Given the description of an element on the screen output the (x, y) to click on. 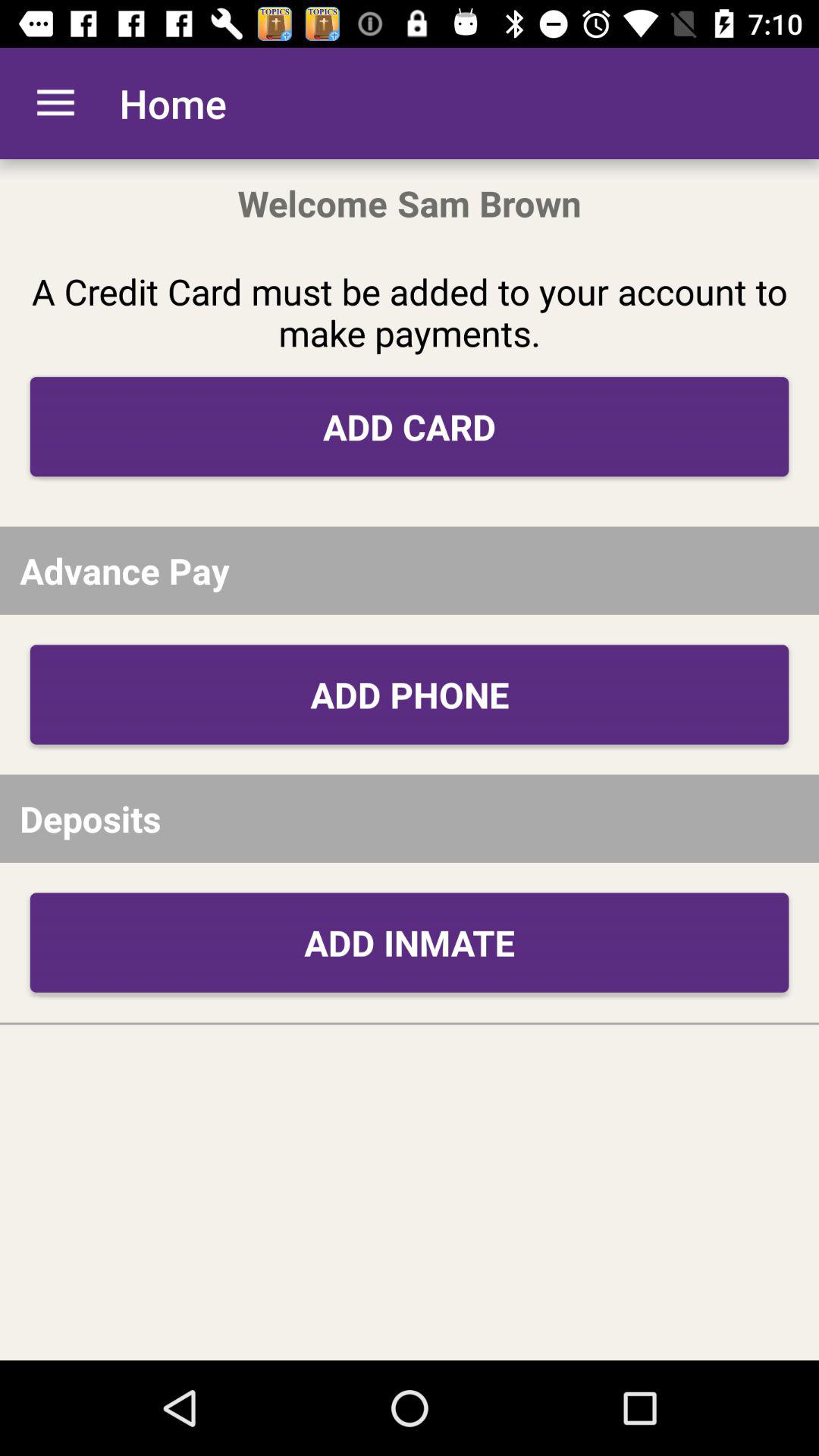
select the icon above the a credit card (55, 103)
